Given the description of an element on the screen output the (x, y) to click on. 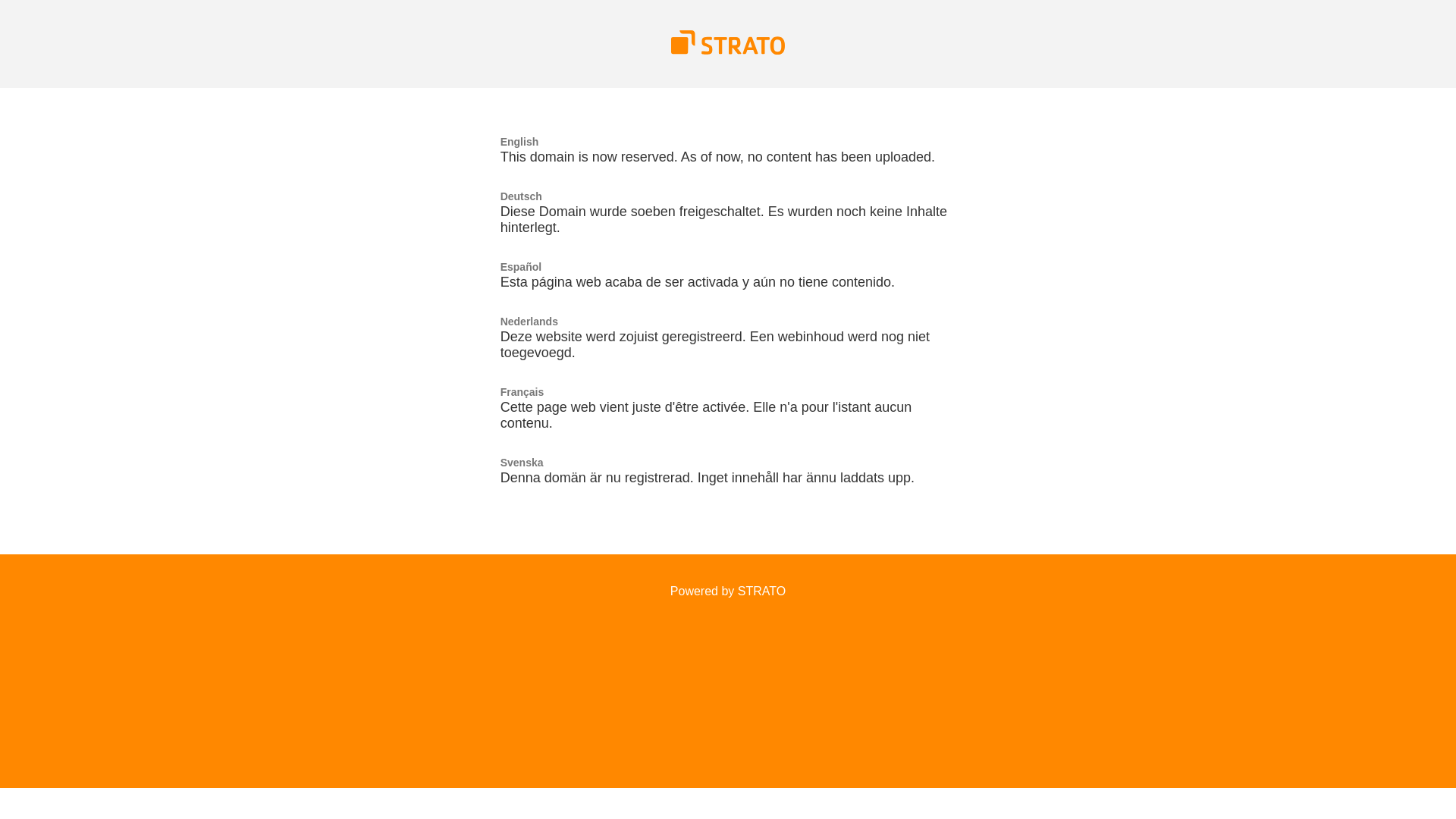
Powered by STRATO Element type: text (727, 590)
